Given the description of an element on the screen output the (x, y) to click on. 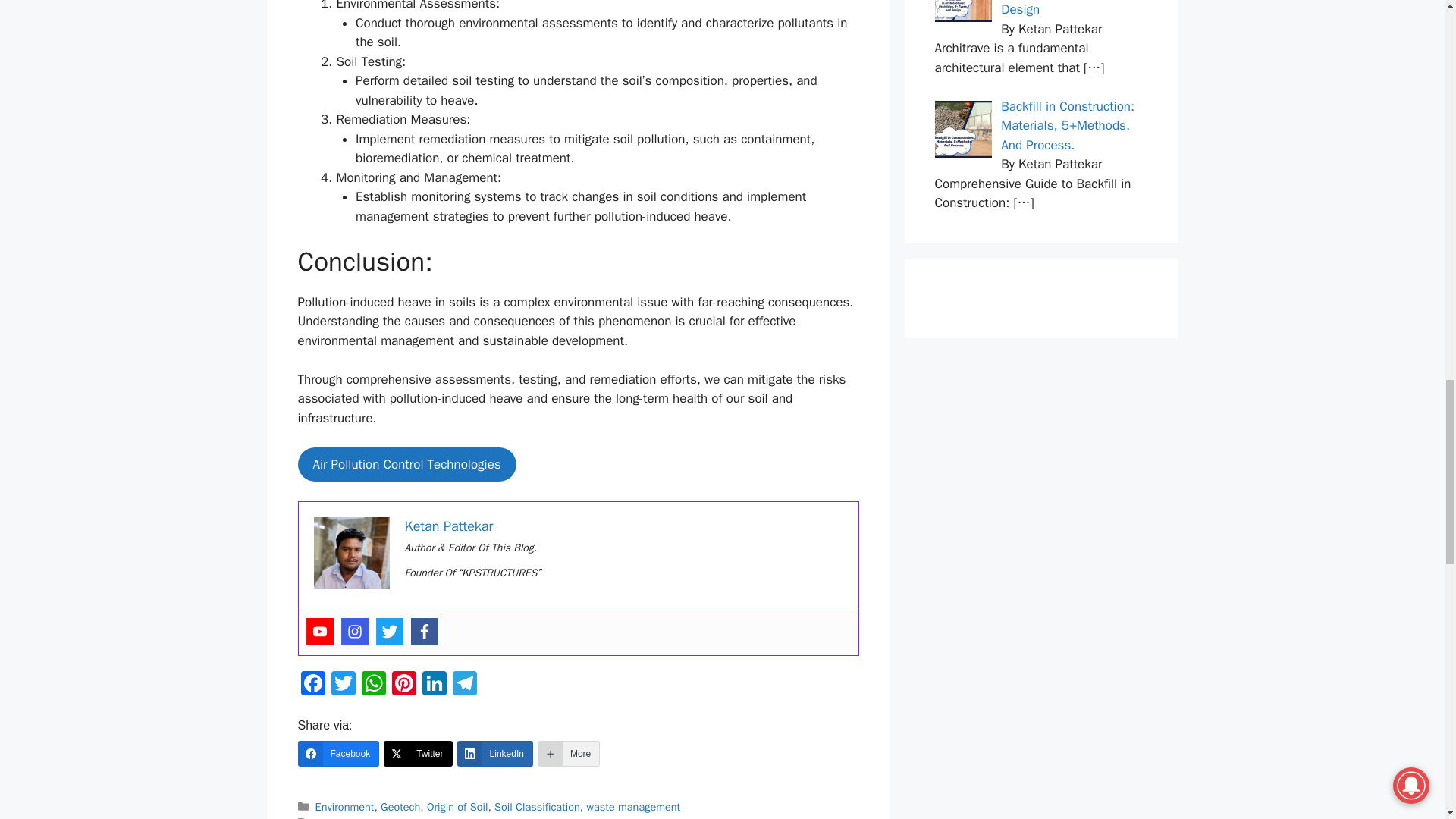
Twitter (389, 631)
Air Pollution Control Technologies (406, 464)
Youtube (319, 631)
Pinterest (403, 685)
WhatsApp (373, 685)
Facebook (424, 631)
LinkedIn (433, 685)
Instagram (354, 631)
Telegram (463, 685)
Twitter (342, 685)
Facebook (312, 685)
